Given the description of an element on the screen output the (x, y) to click on. 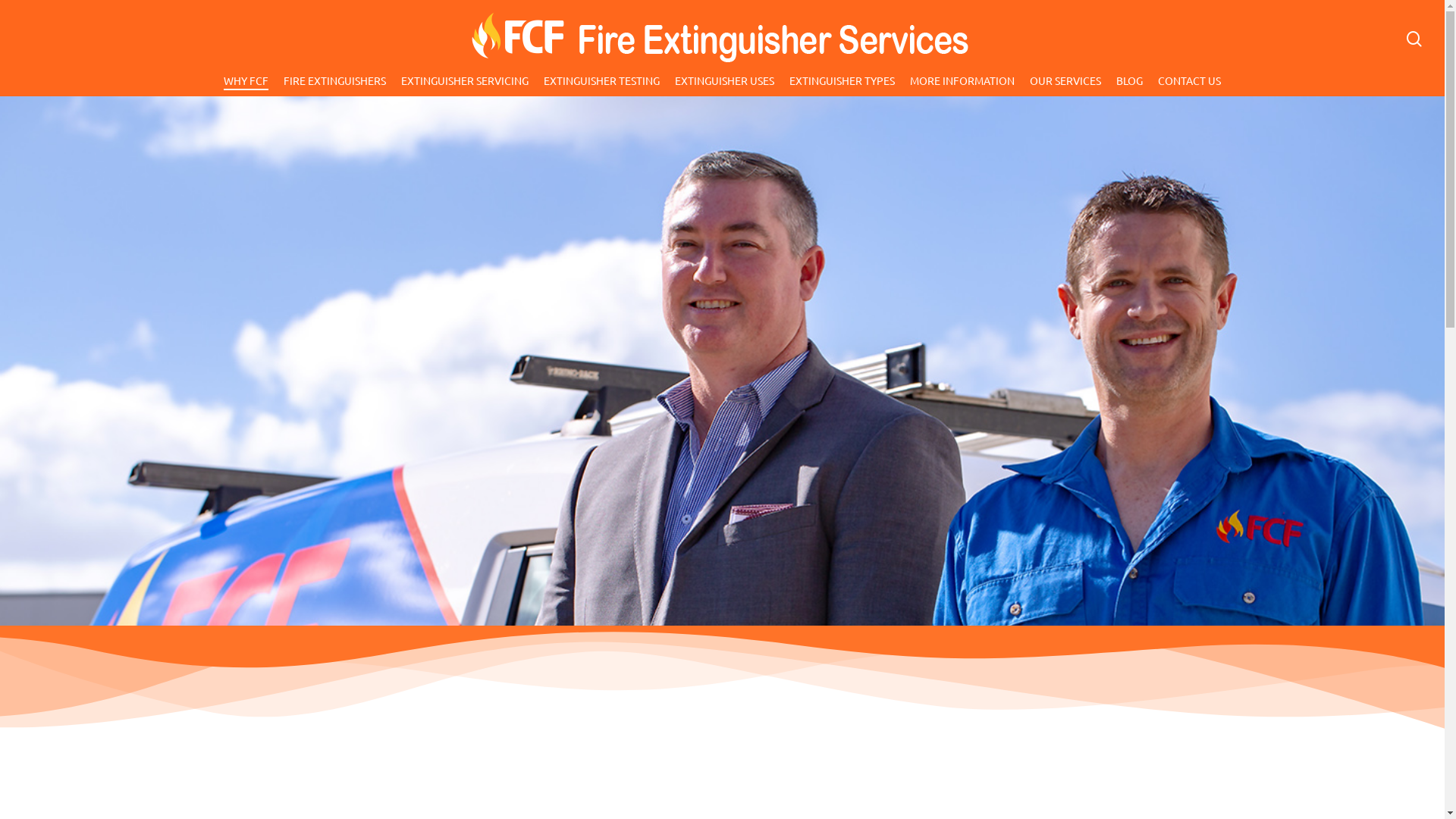
EXTINGUISHER TYPES Element type: text (841, 84)
EXTINGUISHER USES Element type: text (724, 84)
WHY FCF Element type: text (245, 84)
MORE INFORMATION Element type: text (962, 84)
EXTINGUISHER TESTING Element type: text (601, 84)
BLOG Element type: text (1129, 84)
OUR SERVICES Element type: text (1065, 84)
EXTINGUISHER SERVICING Element type: text (464, 84)
FIRE EXTINGUISHERS Element type: text (334, 84)
CONTACT US Element type: text (1188, 84)
